Given the description of an element on the screen output the (x, y) to click on. 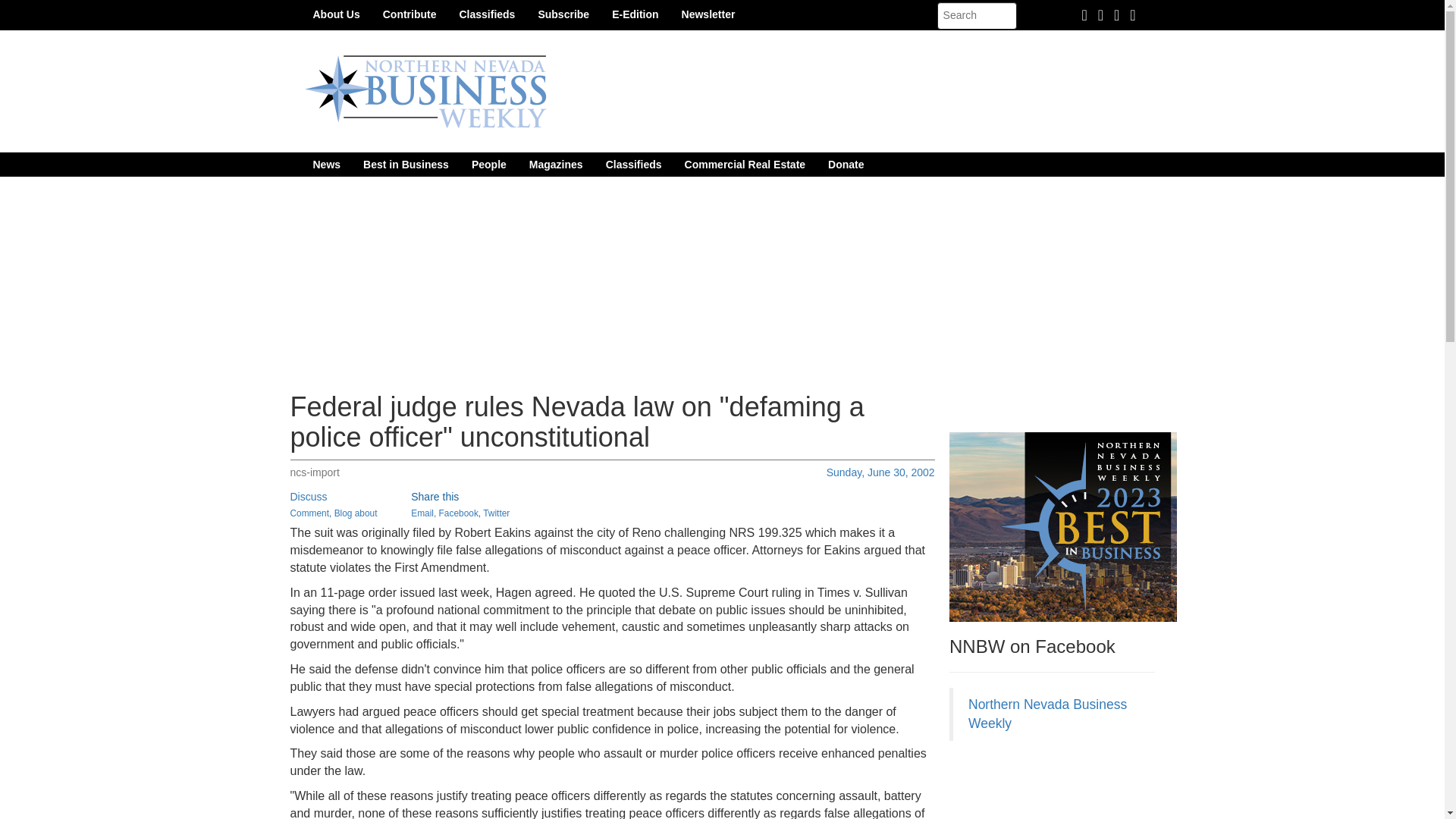
Blog about (355, 512)
Donate (845, 164)
Twitter (496, 512)
Comment (309, 512)
Sunday, June 30, 2002 (880, 472)
Best in Business (406, 164)
Classifieds (485, 14)
News (326, 164)
3rd party ad content (1062, 787)
Email, (422, 512)
About Us (336, 14)
People (489, 164)
Contribute (409, 14)
Discuss (307, 496)
